Given the description of an element on the screen output the (x, y) to click on. 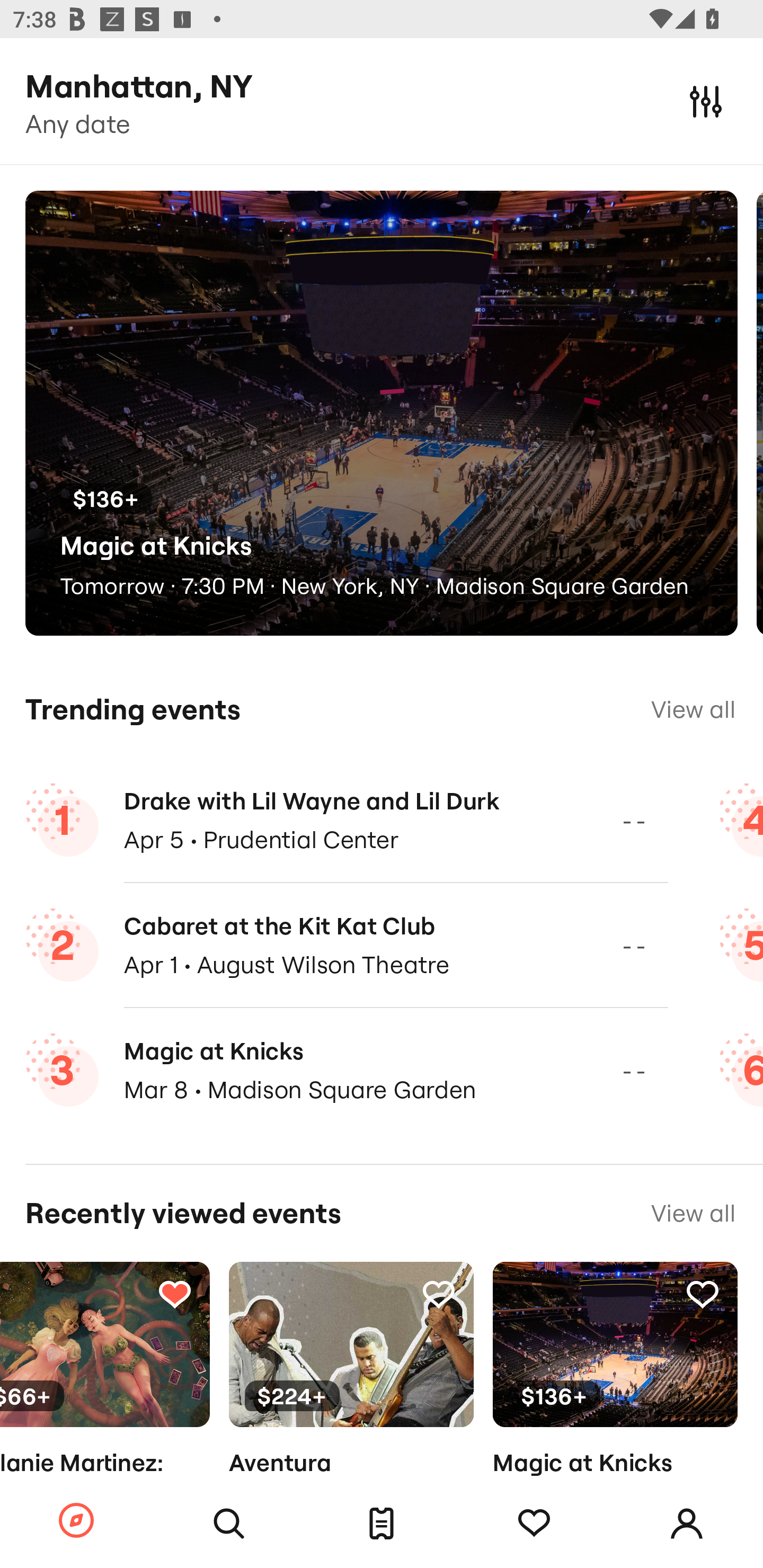
Filters (705, 100)
View all (693, 709)
View all (693, 1213)
Tracking $224+ Aventura Thu, May 30, 8 PM (350, 1399)
Tracking $136+ Magic at Knicks Tomorrow · 7:30 PM (614, 1399)
Tracking (174, 1293)
Tracking (438, 1293)
Tracking (702, 1293)
Browse (76, 1521)
Search (228, 1523)
Tickets (381, 1523)
Tracking (533, 1523)
Account (686, 1523)
